Given the description of an element on the screen output the (x, y) to click on. 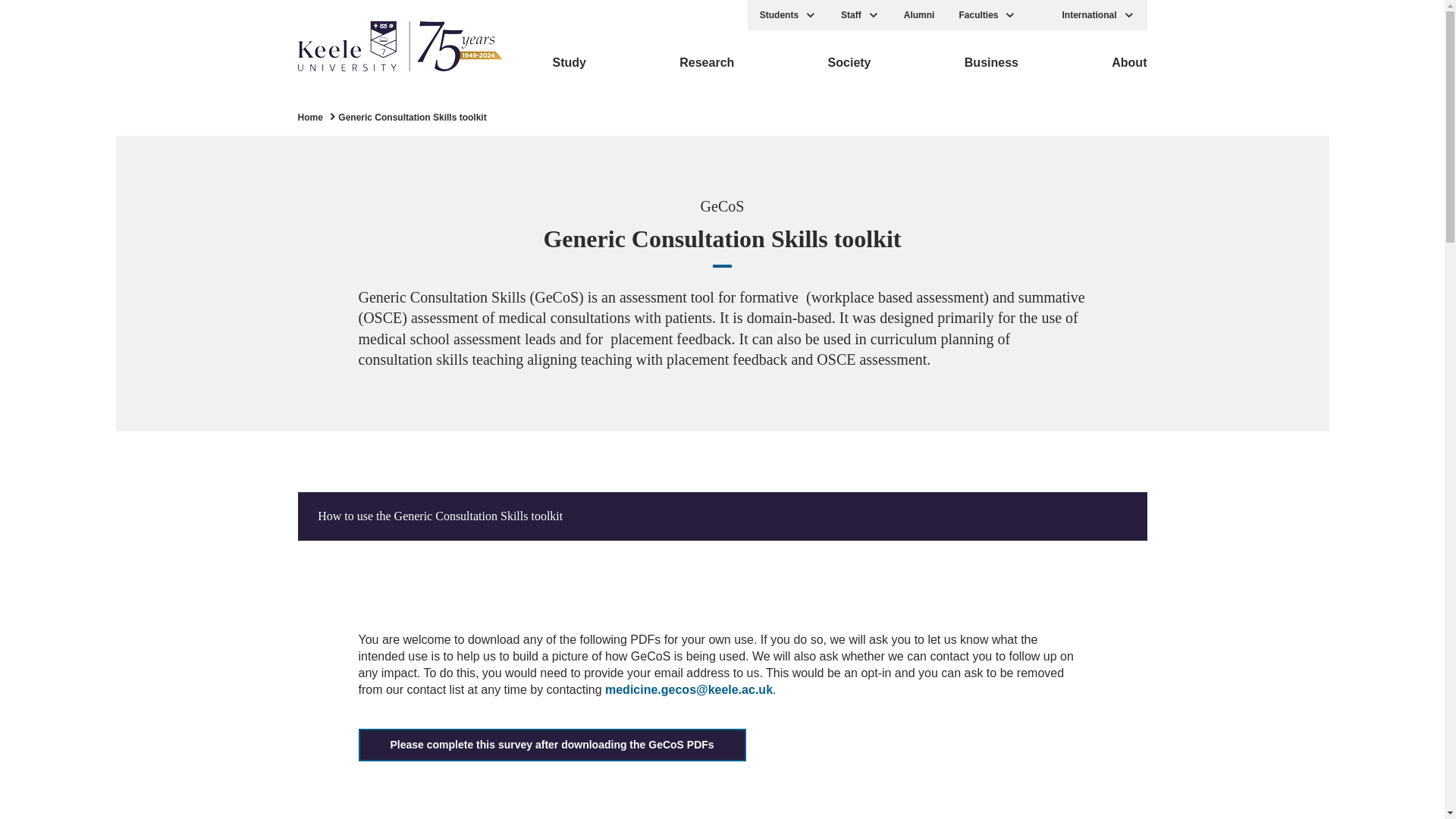
Faculties (986, 15)
Students (788, 15)
International (1098, 15)
Open the Search Bar (1038, 14)
Staff (859, 15)
Alumni (919, 15)
